Given the description of an element on the screen output the (x, y) to click on. 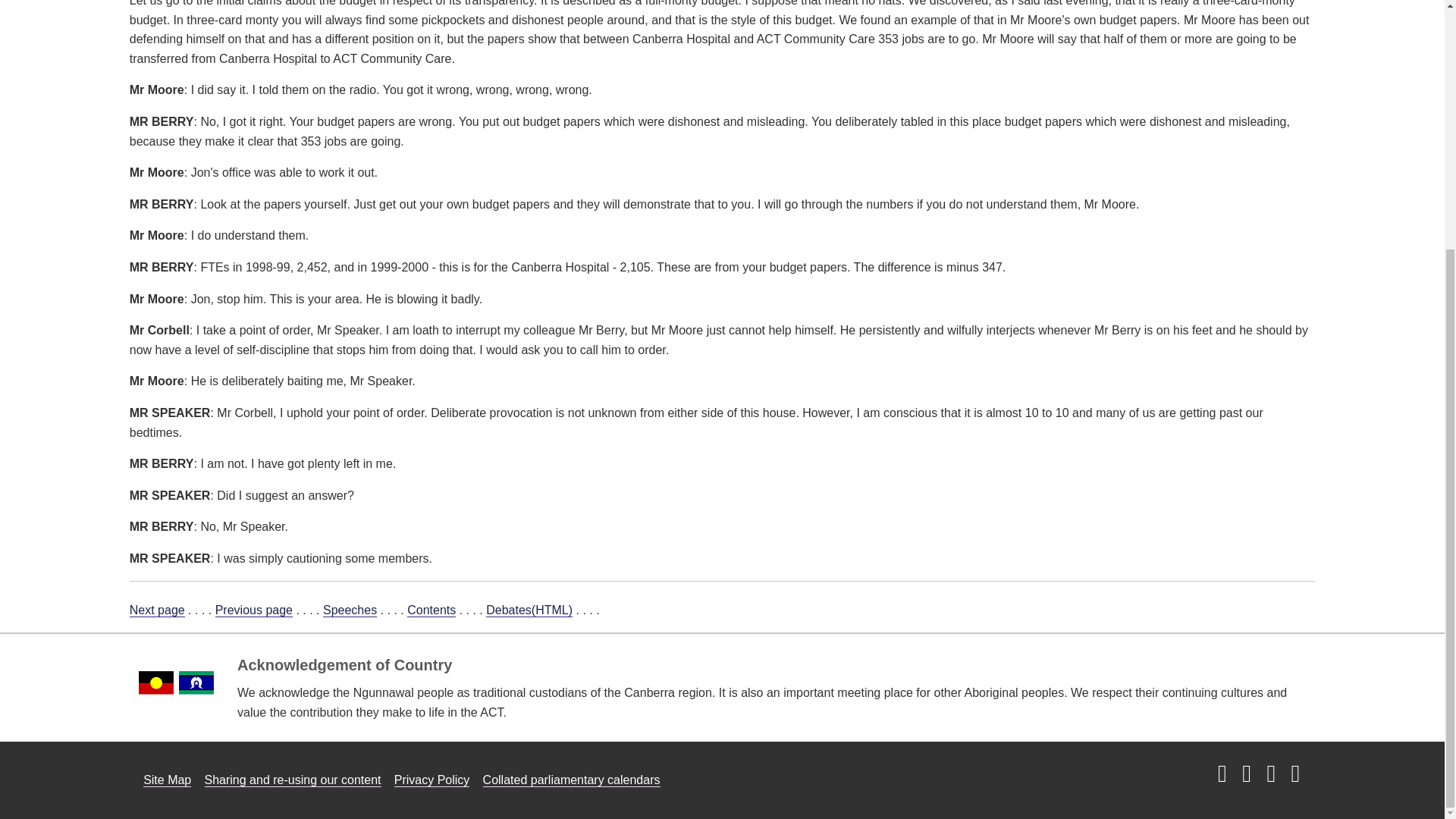
Link to Site Map (166, 780)
Link to Privacy Policy (432, 780)
Collated parliamentary calendars (572, 780)
Speeches (350, 610)
Link to Sharing and re-using our content (293, 780)
Privacy Policy (432, 780)
Sharing and re-using our content (293, 780)
Contents (431, 610)
Next page (156, 610)
Site Map (166, 780)
